Given the description of an element on the screen output the (x, y) to click on. 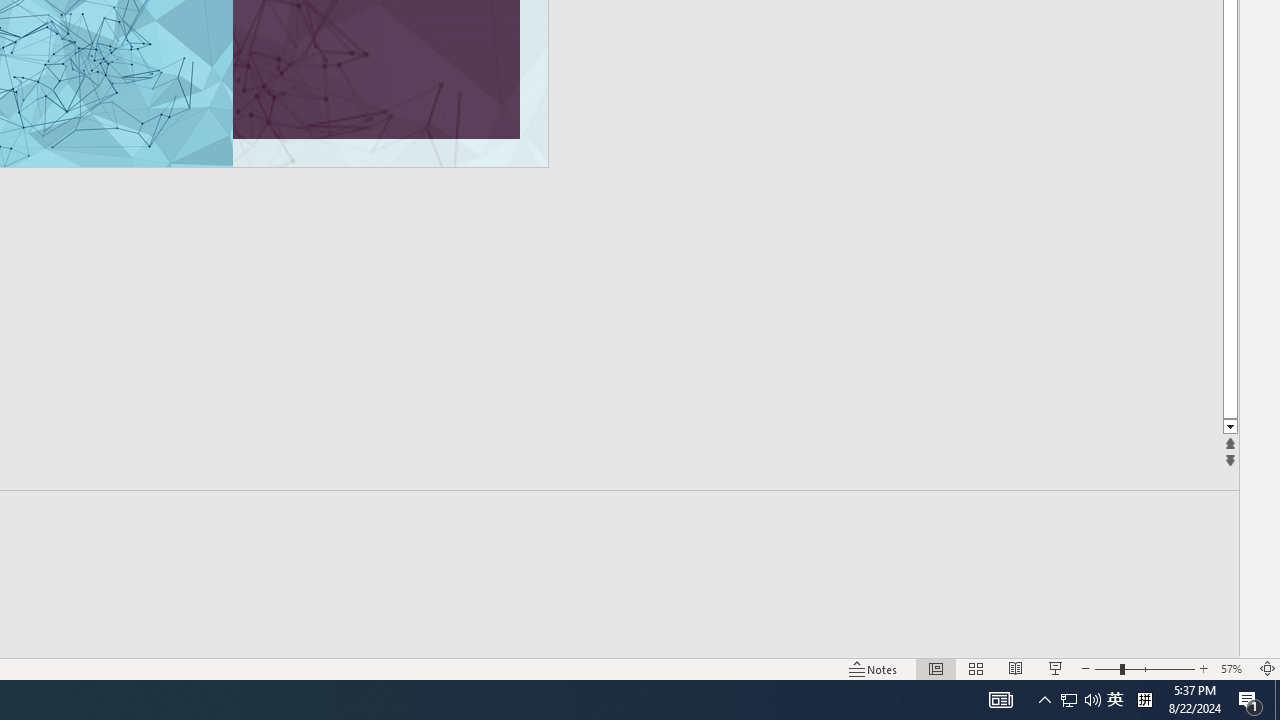
User Promoted Notification Area (1080, 699)
Notification Chevron (1044, 699)
